Given the description of an element on the screen output the (x, y) to click on. 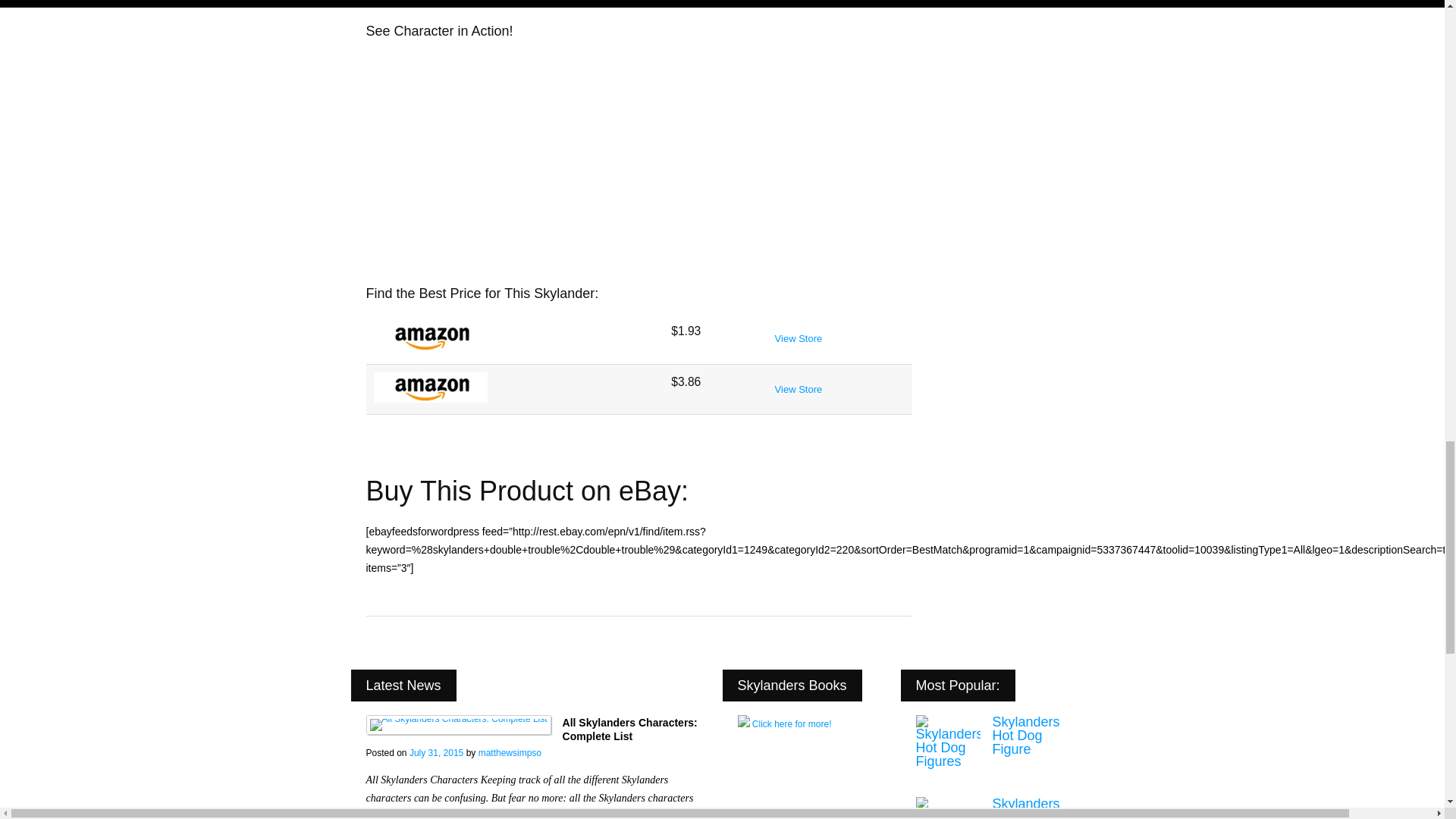
View Store (798, 389)
View Store (798, 337)
12:30 am (436, 752)
View all posts by matthewsimpso (510, 752)
